Given the description of an element on the screen output the (x, y) to click on. 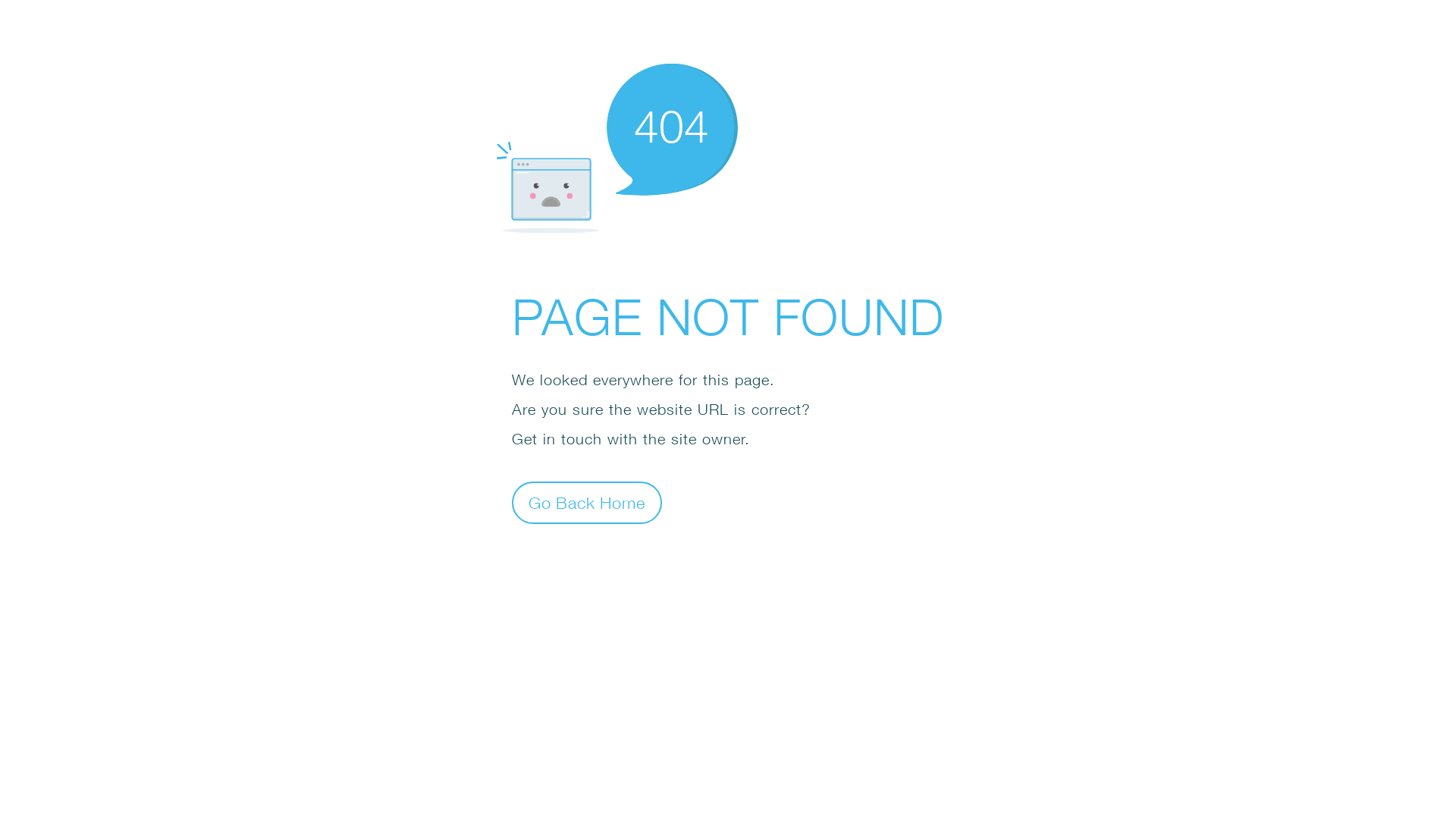
Go Back Home Element type: text (586, 502)
